Given the description of an element on the screen output the (x, y) to click on. 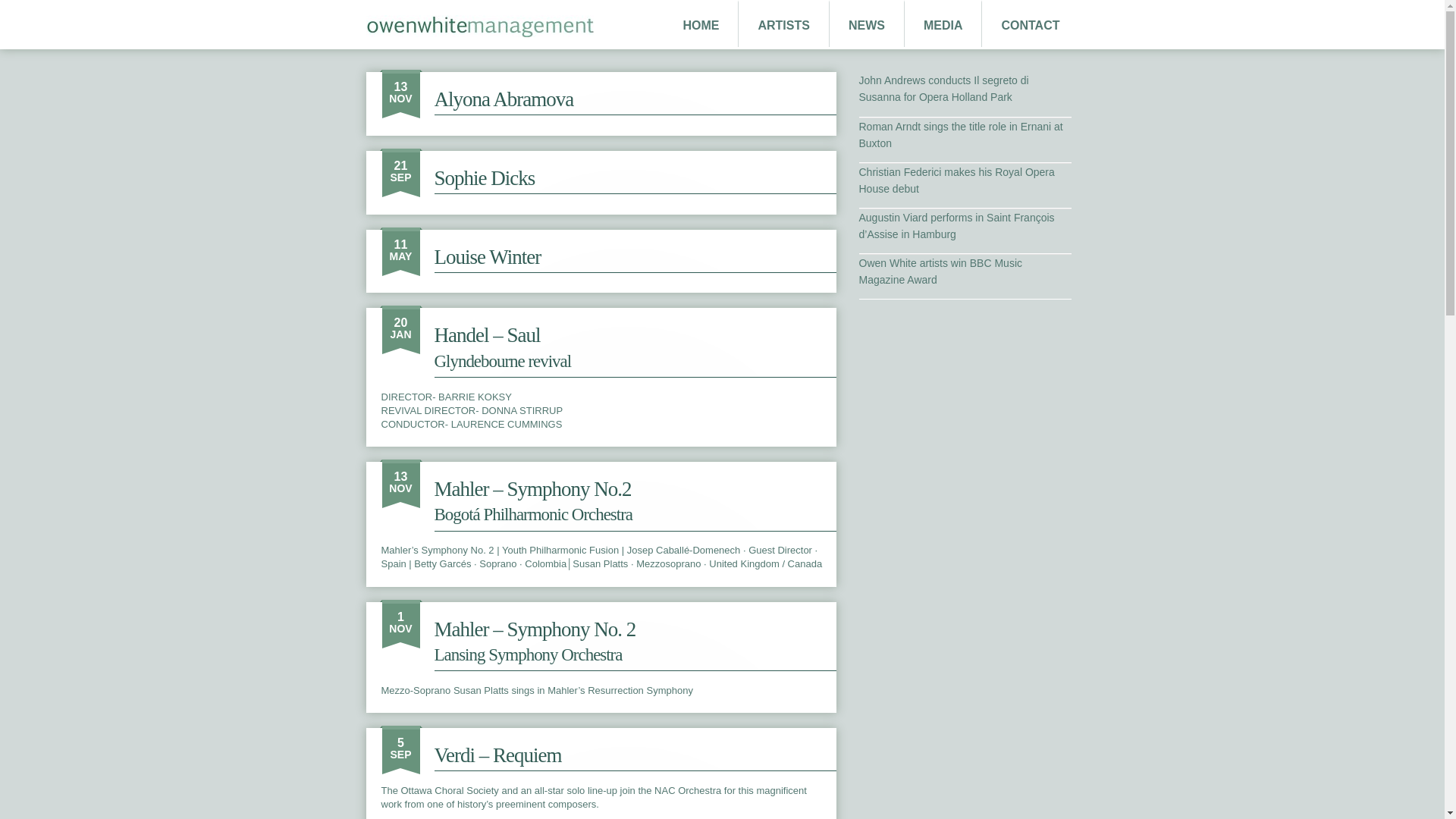
NEWS (866, 25)
HOME (700, 25)
CONTACT (1029, 25)
Alyona Abramova (503, 98)
Louise Winter (486, 256)
ARTISTS (783, 25)
MEDIA (942, 25)
Sophie Dicks (483, 178)
